Given the description of an element on the screen output the (x, y) to click on. 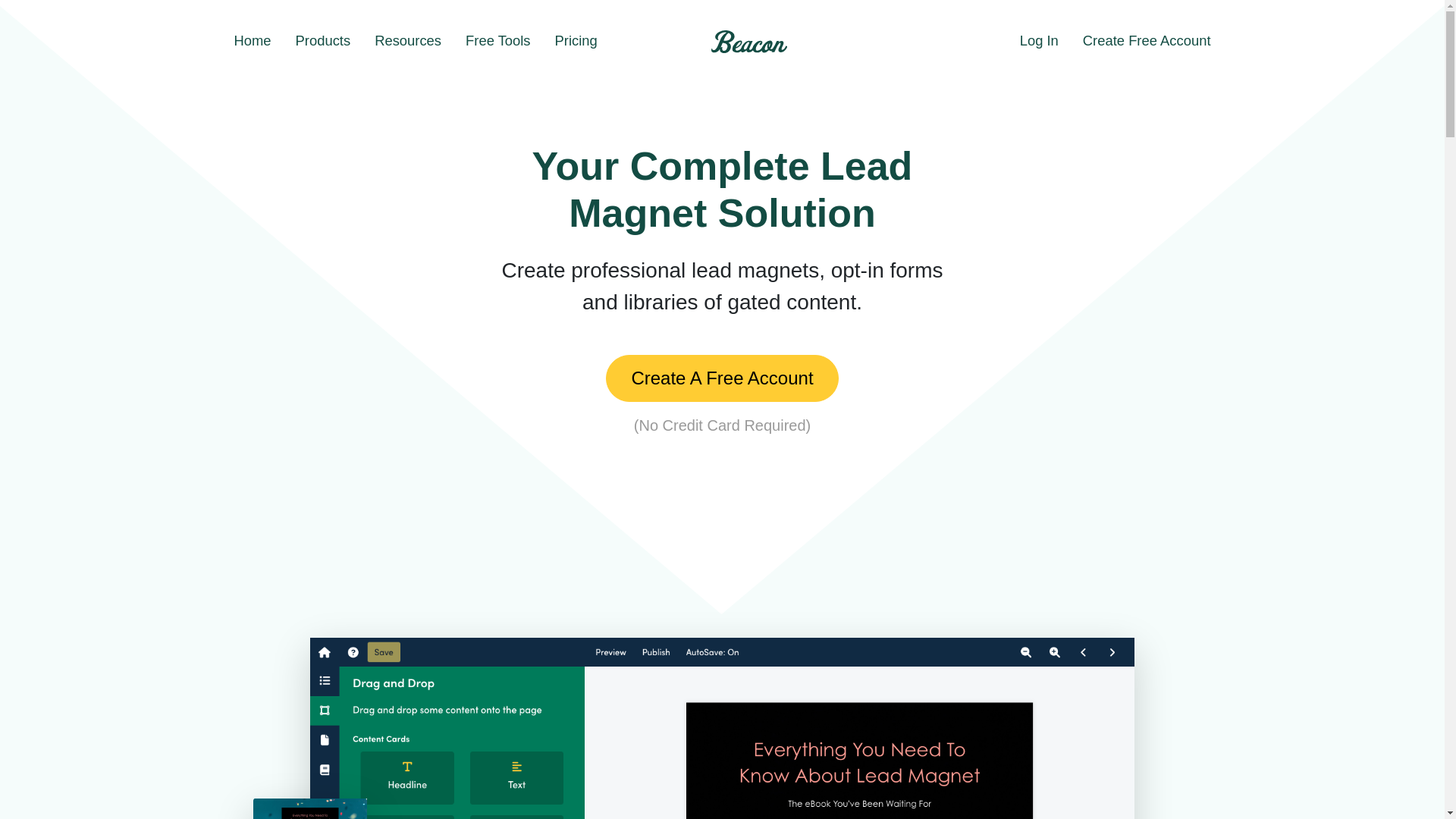
Resources (407, 40)
Create A Free Account (721, 378)
Products (322, 40)
Log In (1038, 40)
Home (251, 40)
Pricing (576, 40)
Free Tools (497, 40)
Create Free Account (1146, 40)
